Given the description of an element on the screen output the (x, y) to click on. 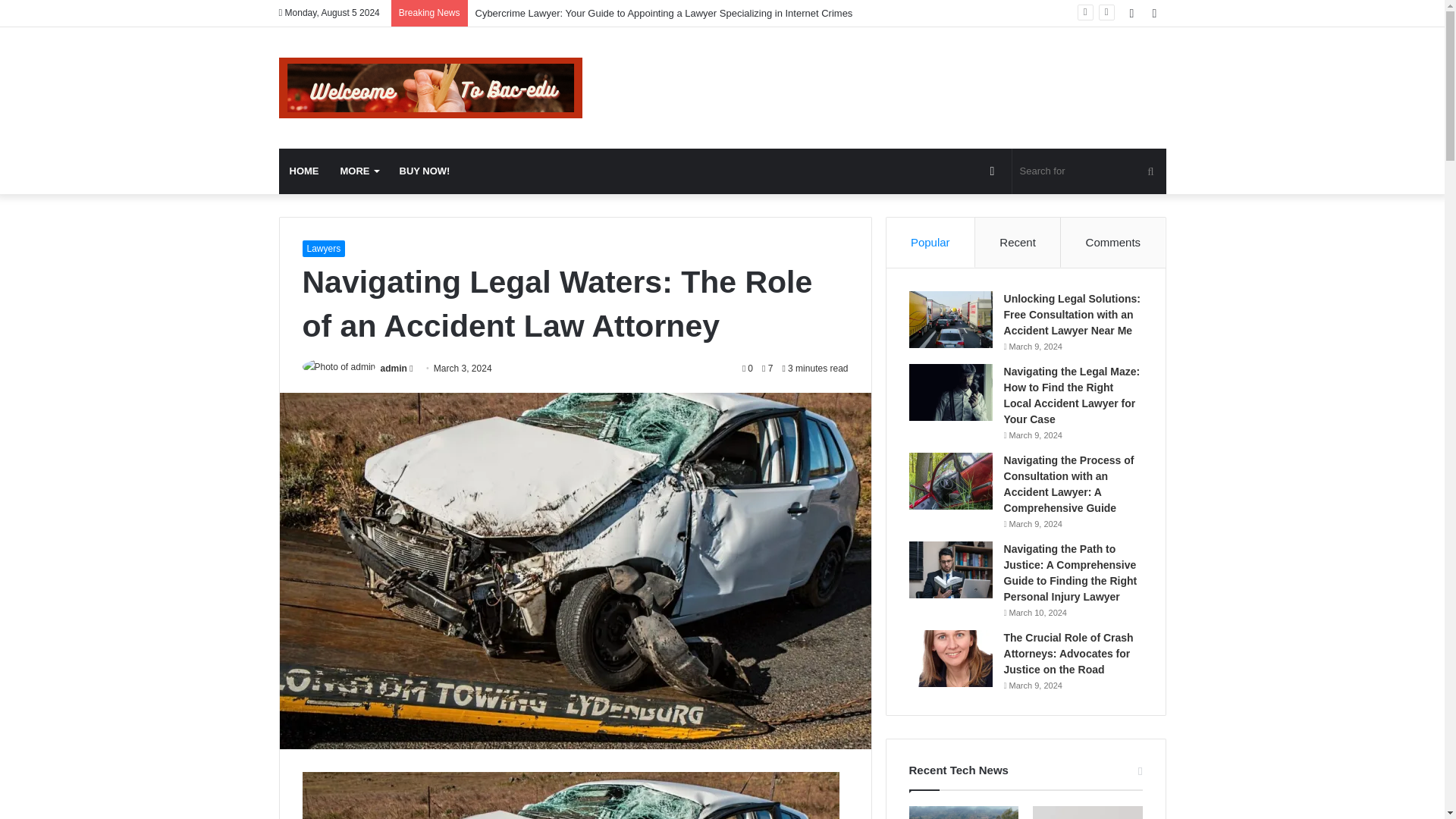
bac-edu.com (430, 87)
admin (393, 368)
HOME (304, 171)
Buy now! (424, 171)
Lawyers (323, 248)
admin (393, 368)
MORE (358, 171)
Search for (1088, 171)
BUY NOW! (424, 171)
